Given the description of an element on the screen output the (x, y) to click on. 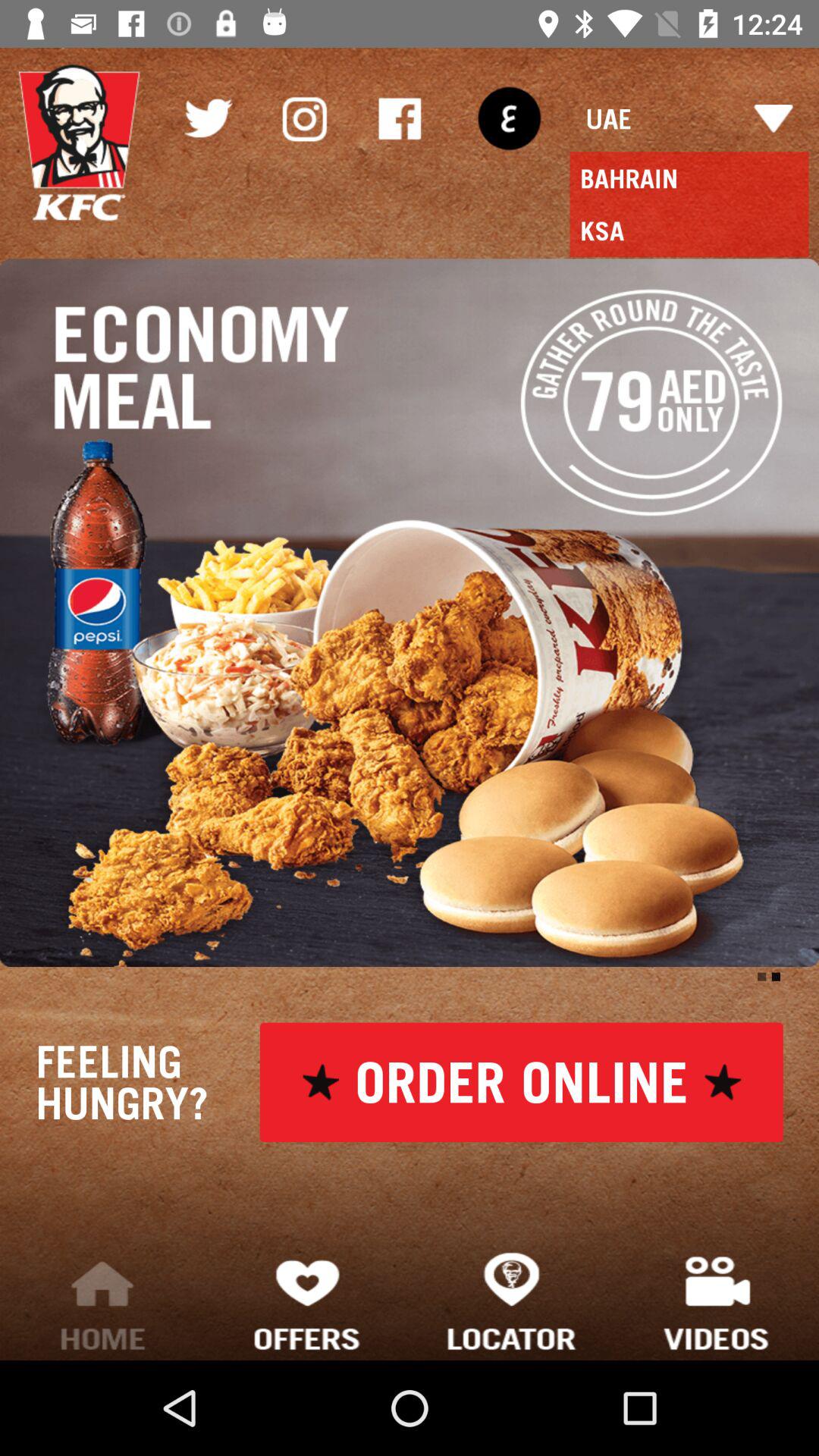
choose the icon below order online item (511, 1300)
